Given the description of an element on the screen output the (x, y) to click on. 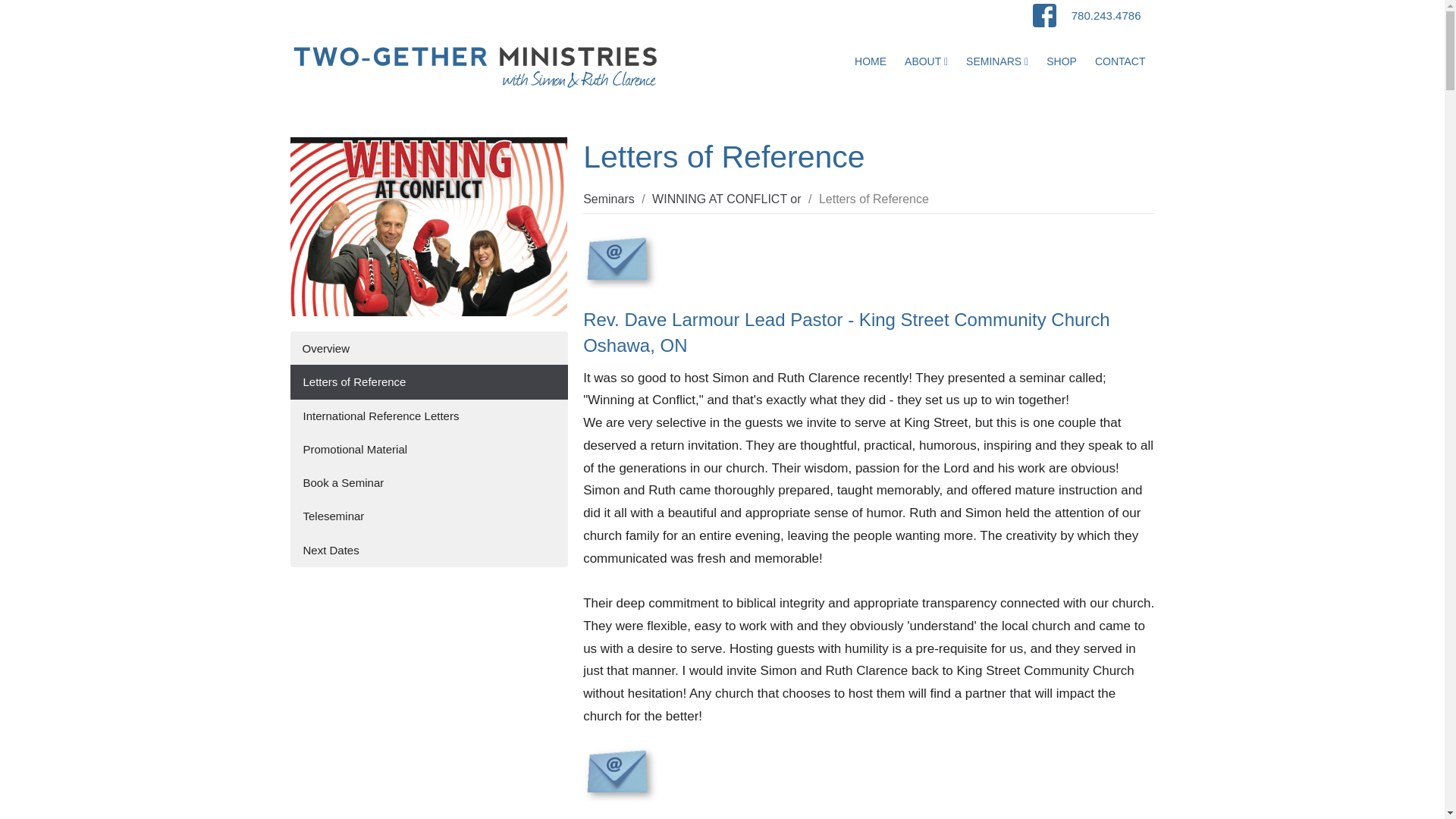
Facebook Icon (1044, 15)
CONTACT (1120, 61)
International Reference Letters (428, 415)
Next Dates (428, 550)
Teleseminar (428, 515)
780.243.4786 (1106, 15)
ABOUT  (925, 61)
SEMINARS  (996, 61)
Letters of Reference (428, 381)
SHOP (1061, 61)
